Given the description of an element on the screen output the (x, y) to click on. 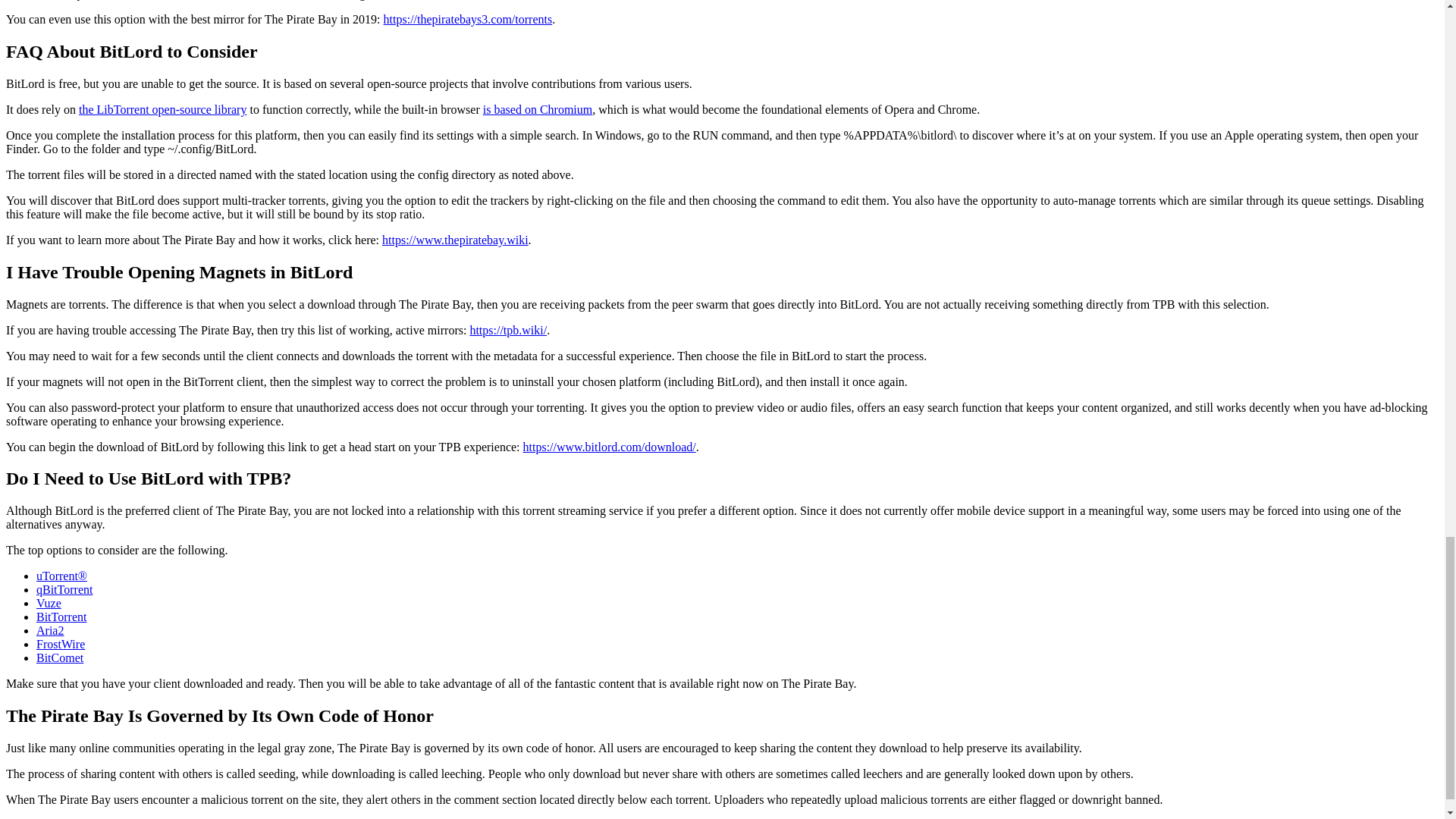
Aria2 (50, 630)
qBitTorrent (64, 589)
Vuze (48, 603)
is based on Chromium (537, 109)
BitTorrent (60, 616)
the LibTorrent open-source library (162, 109)
